Given the description of an element on the screen output the (x, y) to click on. 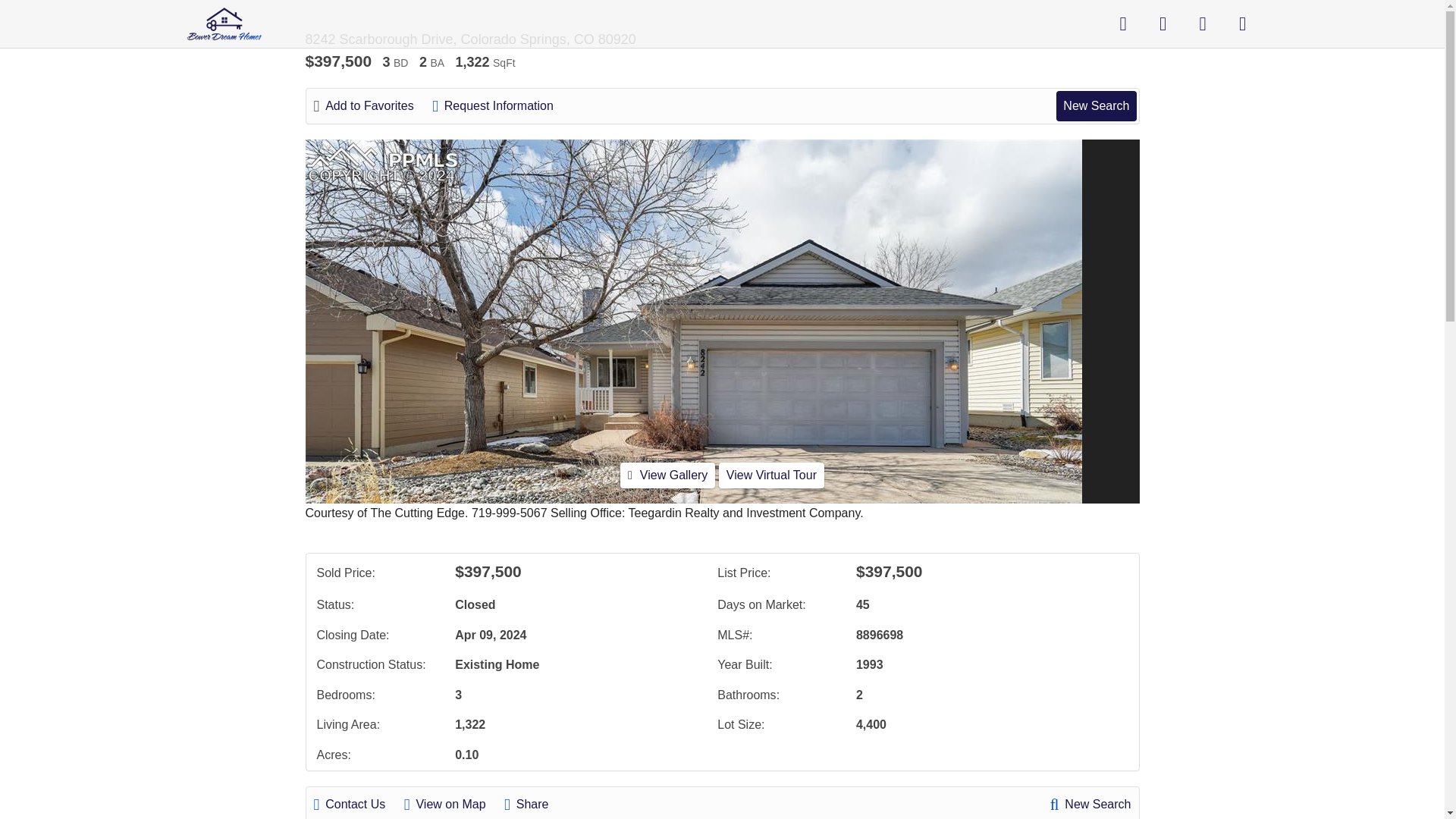
Share (533, 804)
View on Map (452, 804)
Contact Us (357, 804)
View Virtual Tour (771, 474)
New Search (1090, 804)
View Gallery (667, 475)
Request Information (500, 106)
View Virtual Tour (771, 475)
View Gallery (667, 474)
Add to Favorites (371, 106)
New Search (1096, 105)
